Given the description of an element on the screen output the (x, y) to click on. 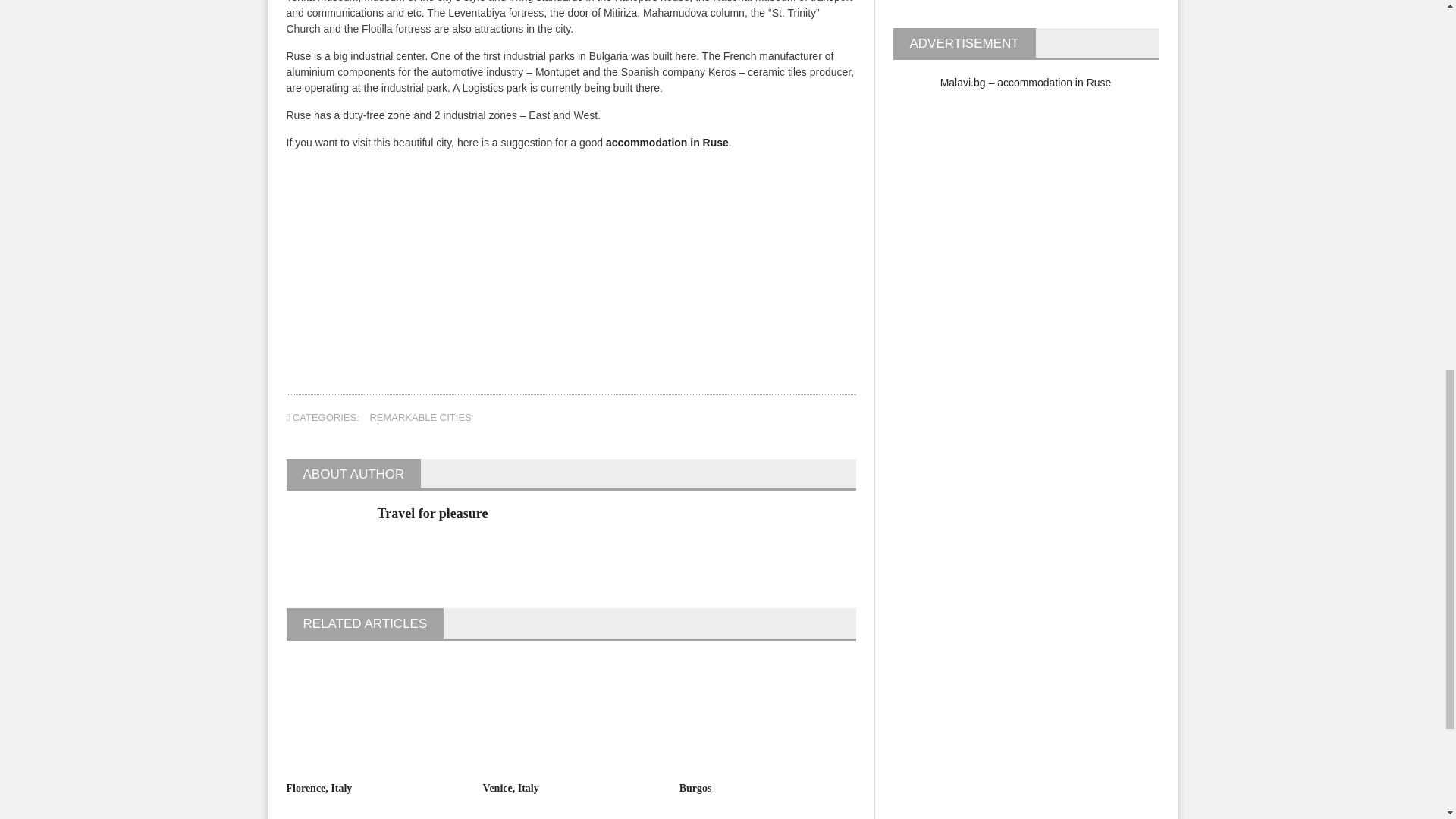
REMARKABLE CITIES (419, 417)
Travel for pleasure (432, 513)
Venice, Italy (510, 787)
Florence, Italy (319, 787)
accommodation in Ruse (667, 142)
Burgos (695, 787)
